Given the description of an element on the screen output the (x, y) to click on. 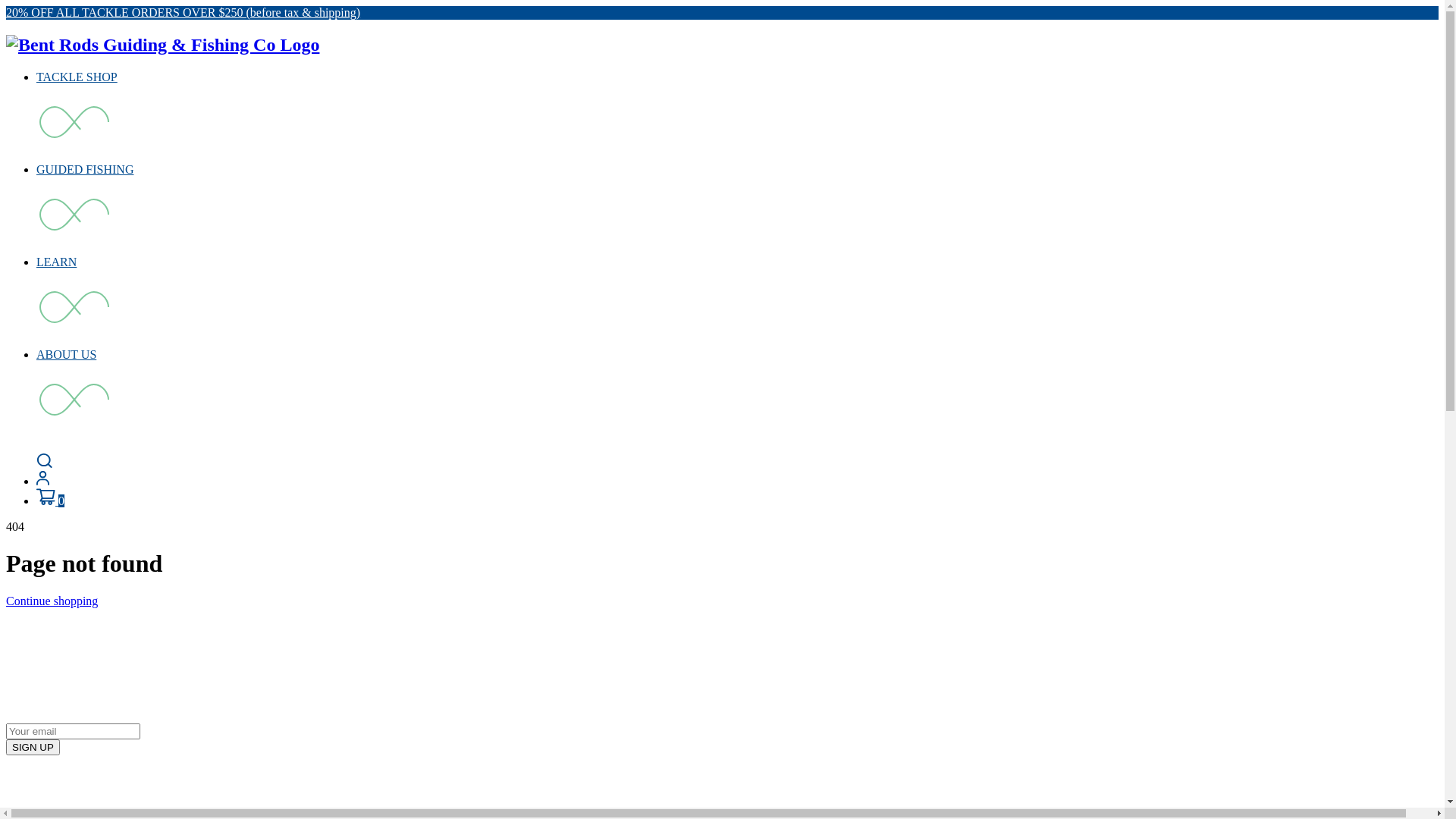
ABOUT US Element type: text (66, 354)
Continue shopping Element type: text (51, 600)
20% OFF ALL TACKLE ORDERS OVER $250 (before tax & shipping) Element type: text (183, 12)
TACKLE SHOP Element type: text (76, 76)
0 Element type: text (50, 500)
GUIDED FISHING Element type: text (84, 169)
LEARN Element type: text (56, 261)
SIGN UP Element type: text (32, 746)
